Given the description of an element on the screen output the (x, y) to click on. 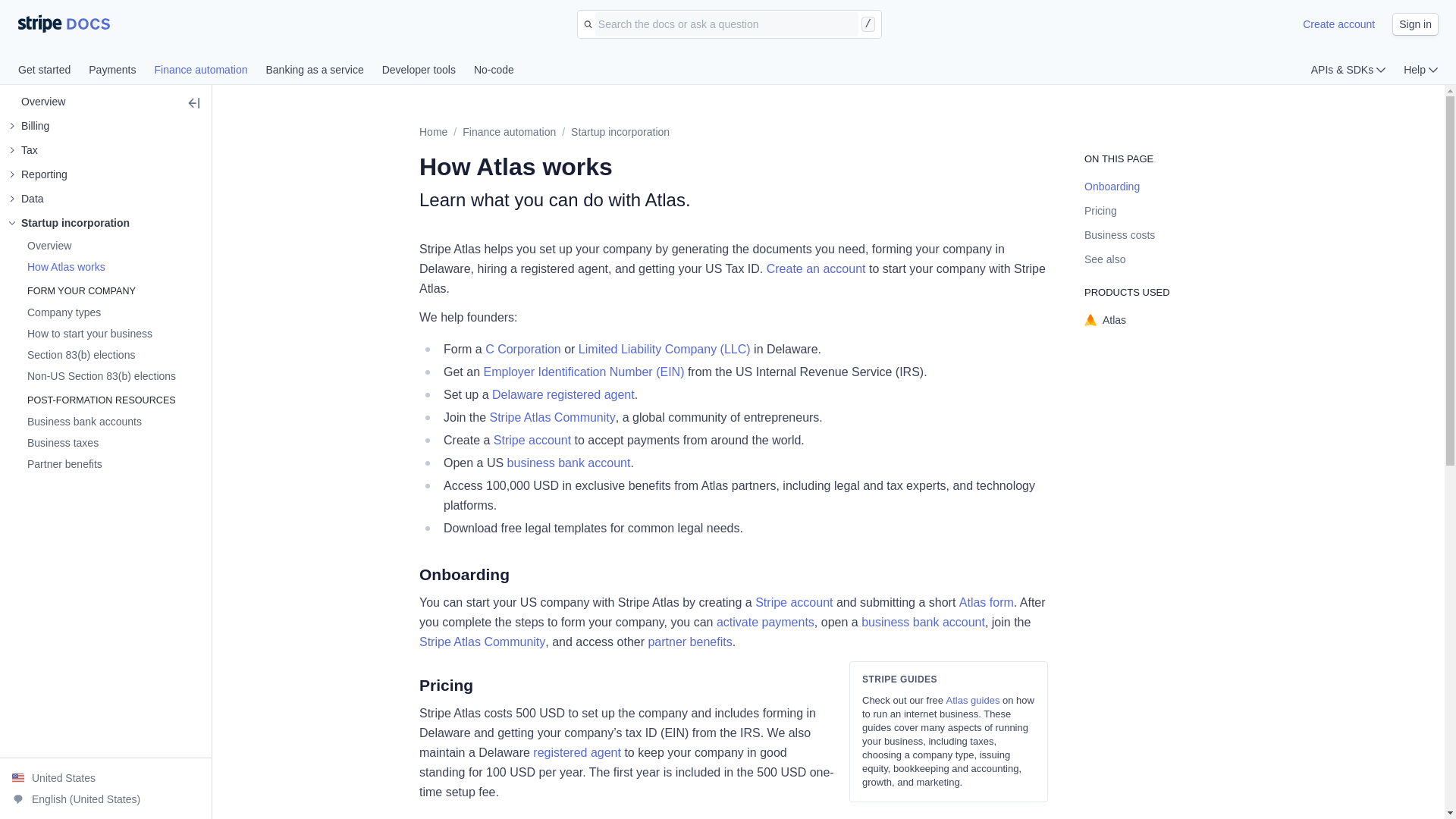
Get started (52, 71)
Banking as a service (322, 71)
Billing (28, 125)
Business bank accounts (77, 421)
Overview (36, 101)
Onboarding  (1112, 186)
Business bank accounts (56, 442)
No-code (493, 71)
Payments (121, 71)
Turn your idea into a startup (92, 222)
Developer tools (427, 71)
Finance automation (509, 132)
Accept payments and open a business bank account (77, 421)
Learn how Stripe Atlas works (59, 266)
How to start your business (83, 333)
